Given the description of an element on the screen output the (x, y) to click on. 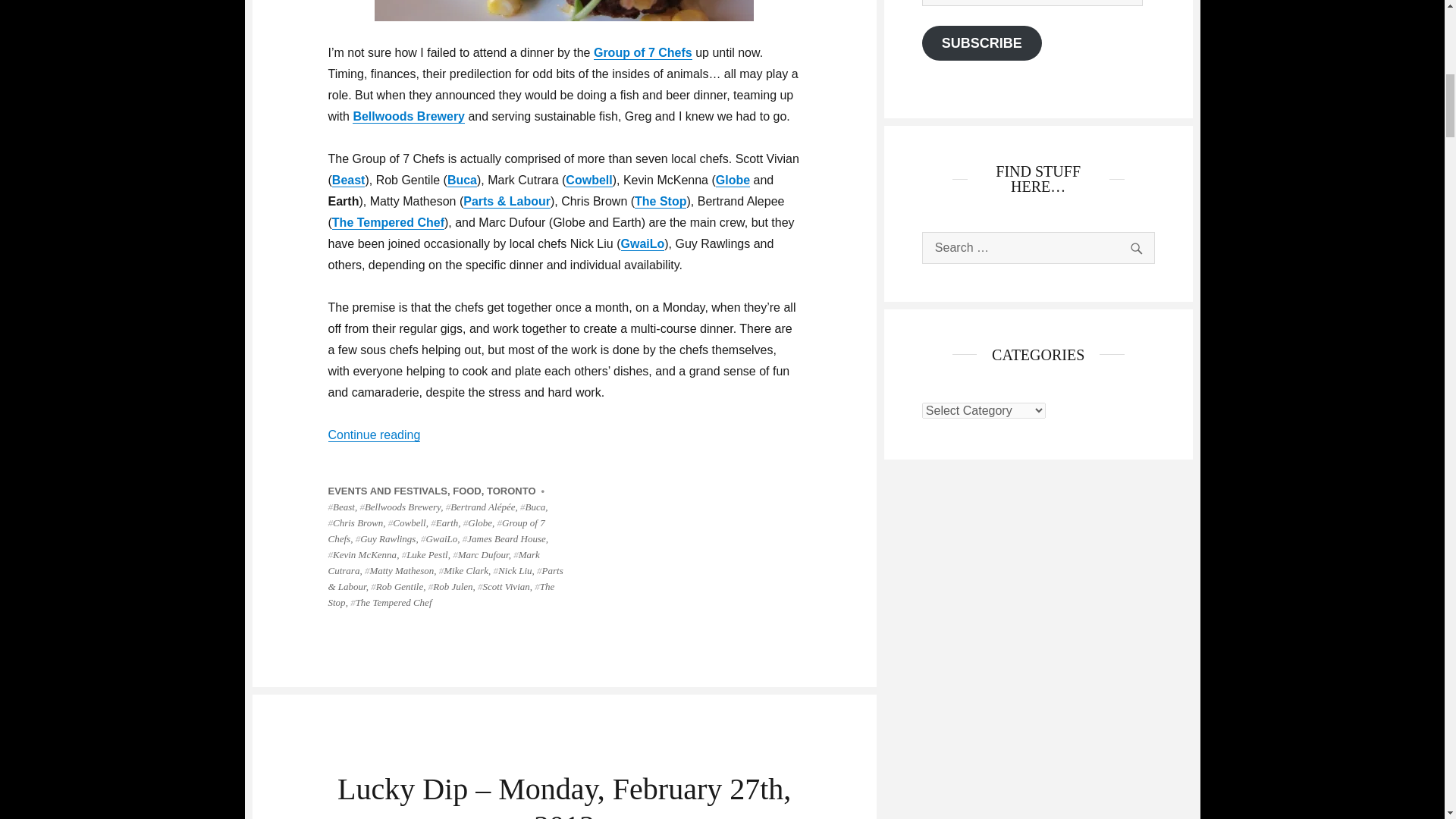
FOOD (466, 490)
Group of 7 Chefs (435, 530)
Bellwoods Brewery (400, 506)
James Beard House (504, 538)
Kevin McKenna (361, 554)
The Tempered Chef (387, 222)
GwaiLo (438, 538)
TORONTO (510, 490)
Cowbell (407, 522)
Group of 7 Chefs (643, 51)
Guy Rawlings (385, 538)
Globe (732, 179)
Earth (444, 522)
Beast (340, 506)
The Stop (659, 201)
